Given the description of an element on the screen output the (x, y) to click on. 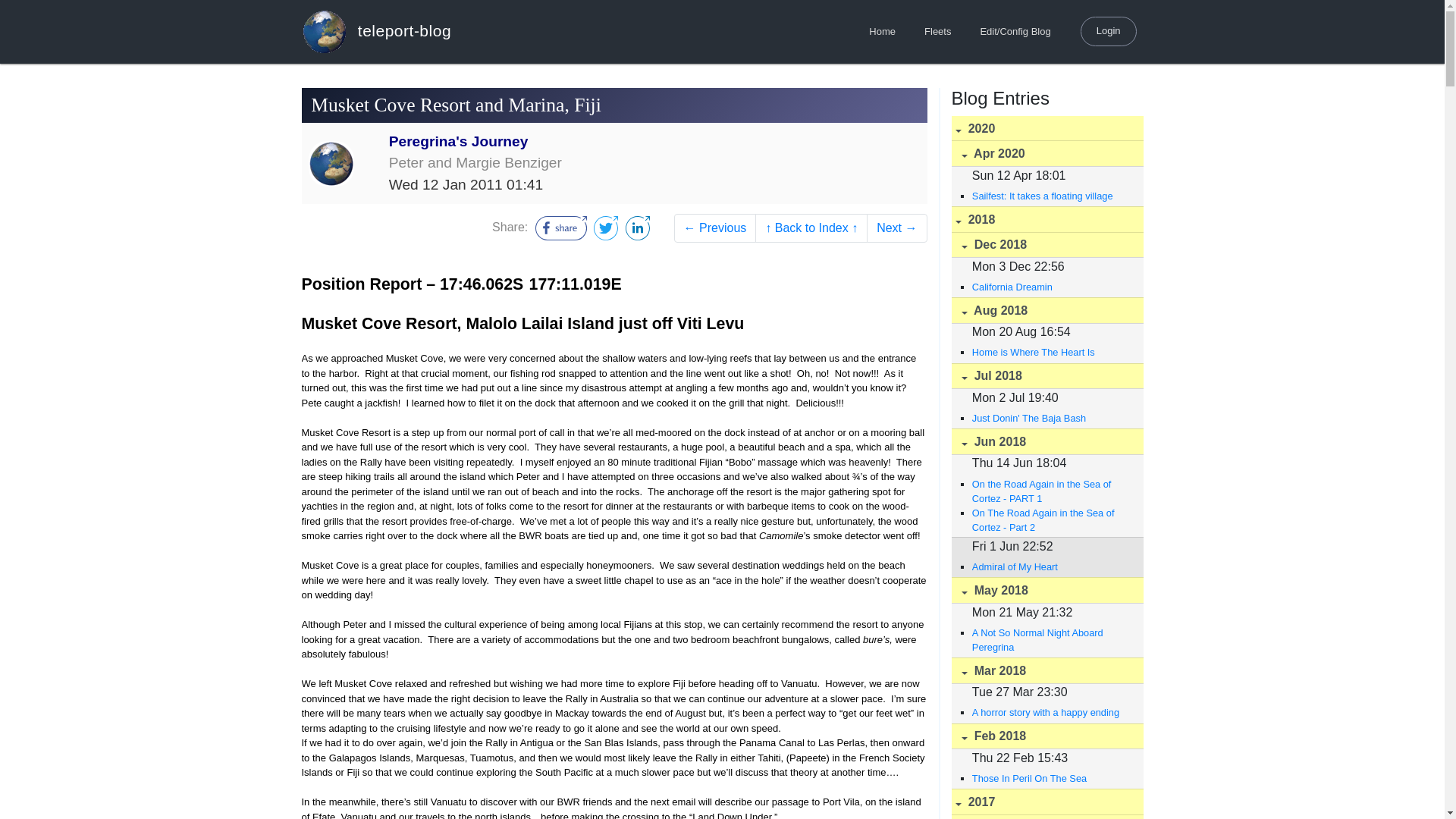
Home is Where The Heart Is (1050, 351)
On The Road Again in the Sea of Cortez - Part 2 (1050, 520)
2018 (1046, 219)
Aug 2018 (1046, 310)
Jun 2018 (1046, 441)
Feb 2018 (1046, 736)
On the Road Again in the Sea of Cortez - PART 1 (1050, 491)
California Dreamin (1050, 287)
Jul 2018 (1046, 376)
A horror story with a happy ending (1050, 712)
May 2018 (1046, 590)
Those In Peril On The Sea (1050, 778)
Admiral of My Heart (1050, 566)
Dec 2018 (1046, 244)
2017 (1046, 801)
